Given the description of an element on the screen output the (x, y) to click on. 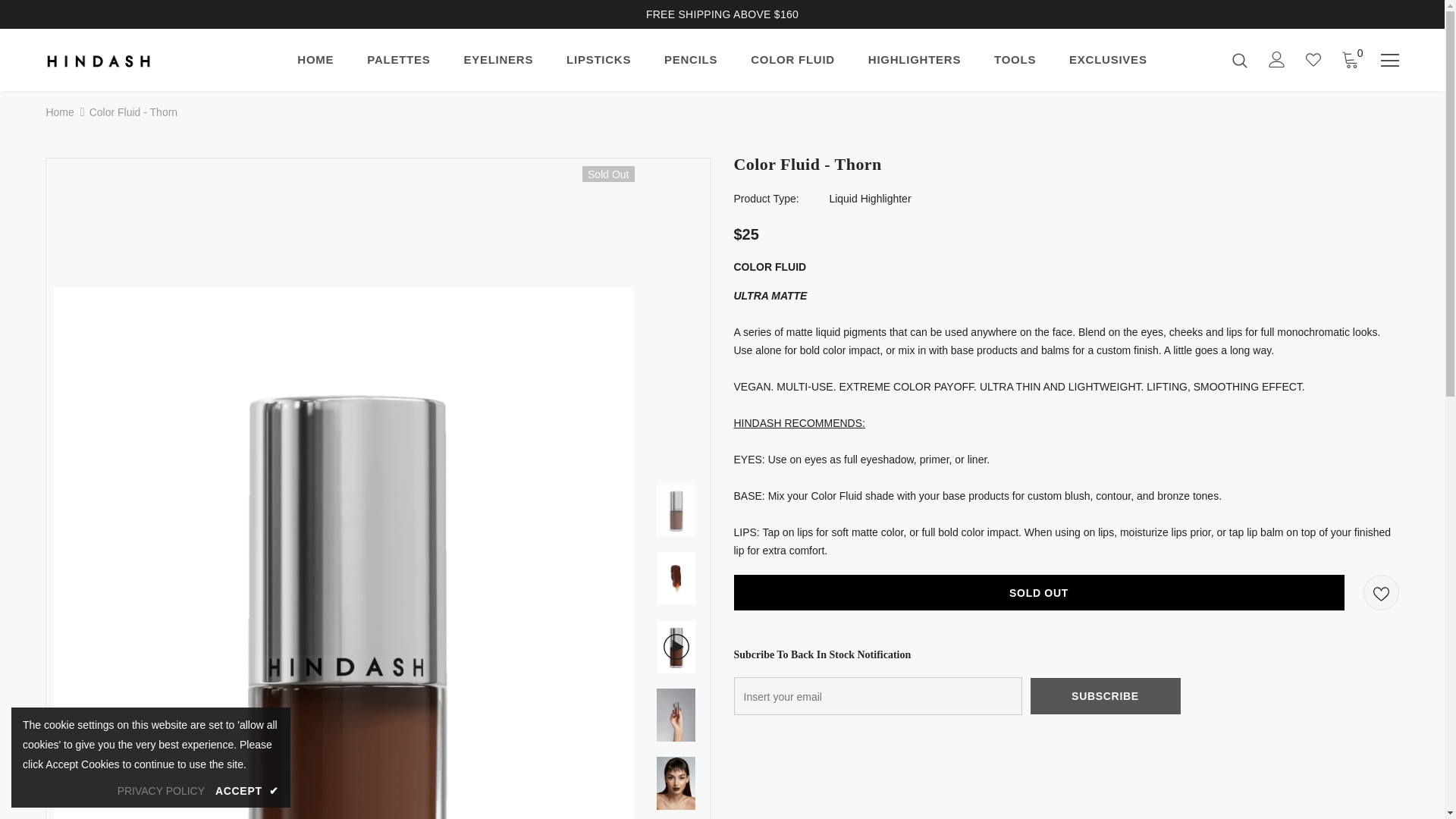
Logo (134, 59)
Subscribe (1104, 695)
Menu Mobile Icon (1389, 60)
EYELINERS (497, 63)
PENCILS (690, 63)
Search Icon (1239, 59)
HIGHLIGHTERS (913, 63)
My Wish Lists (1313, 59)
TOOLS (1014, 63)
Sold Out (1038, 592)
